Given the description of an element on the screen output the (x, y) to click on. 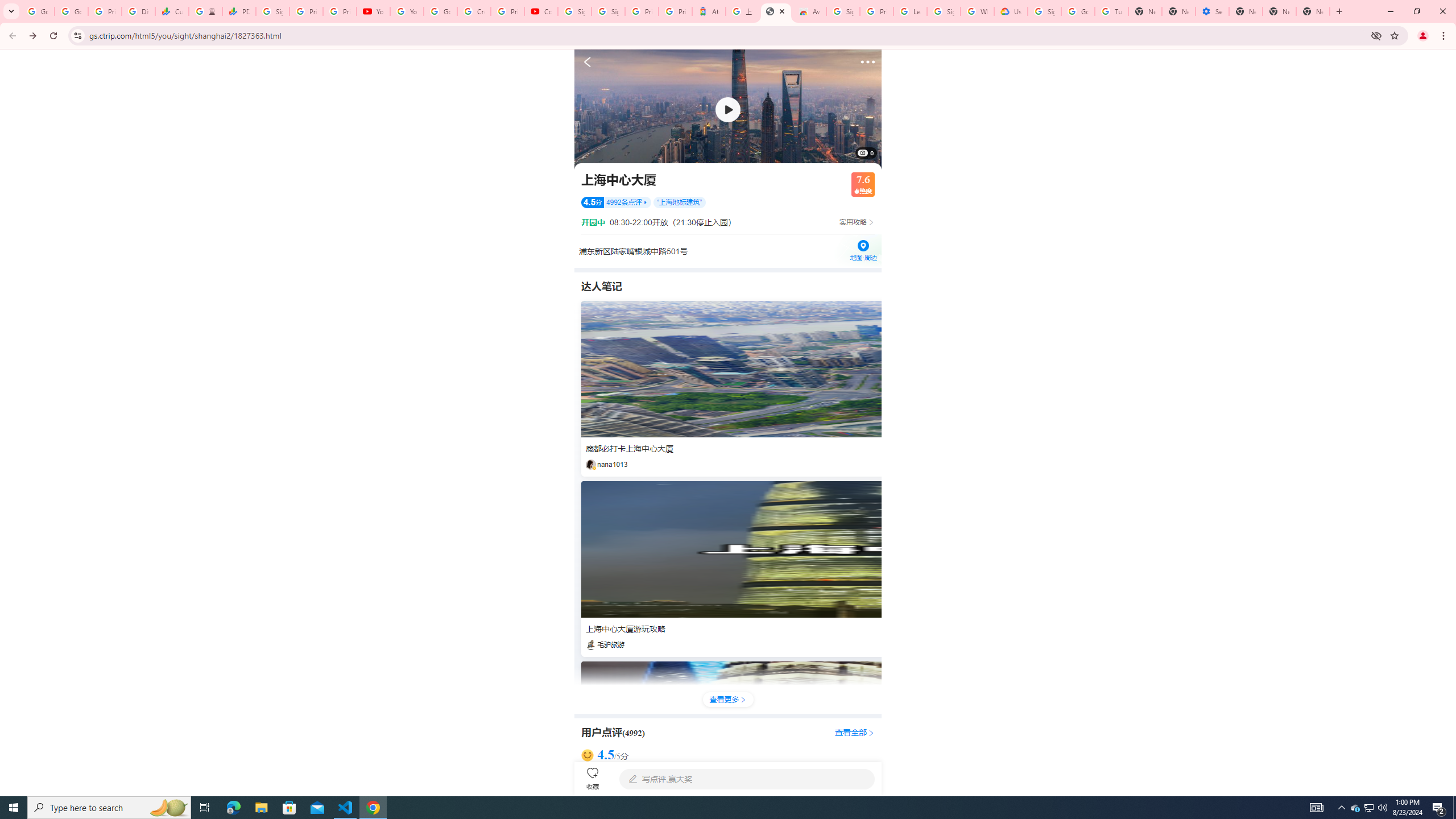
Atour Hotel - Google hotels (708, 11)
Currencies - Google Finance (171, 11)
New Tab (1313, 11)
YouTube (372, 11)
Google Workspace Admin Community (37, 11)
Create your Google Account (474, 11)
